Given the description of an element on the screen output the (x, y) to click on. 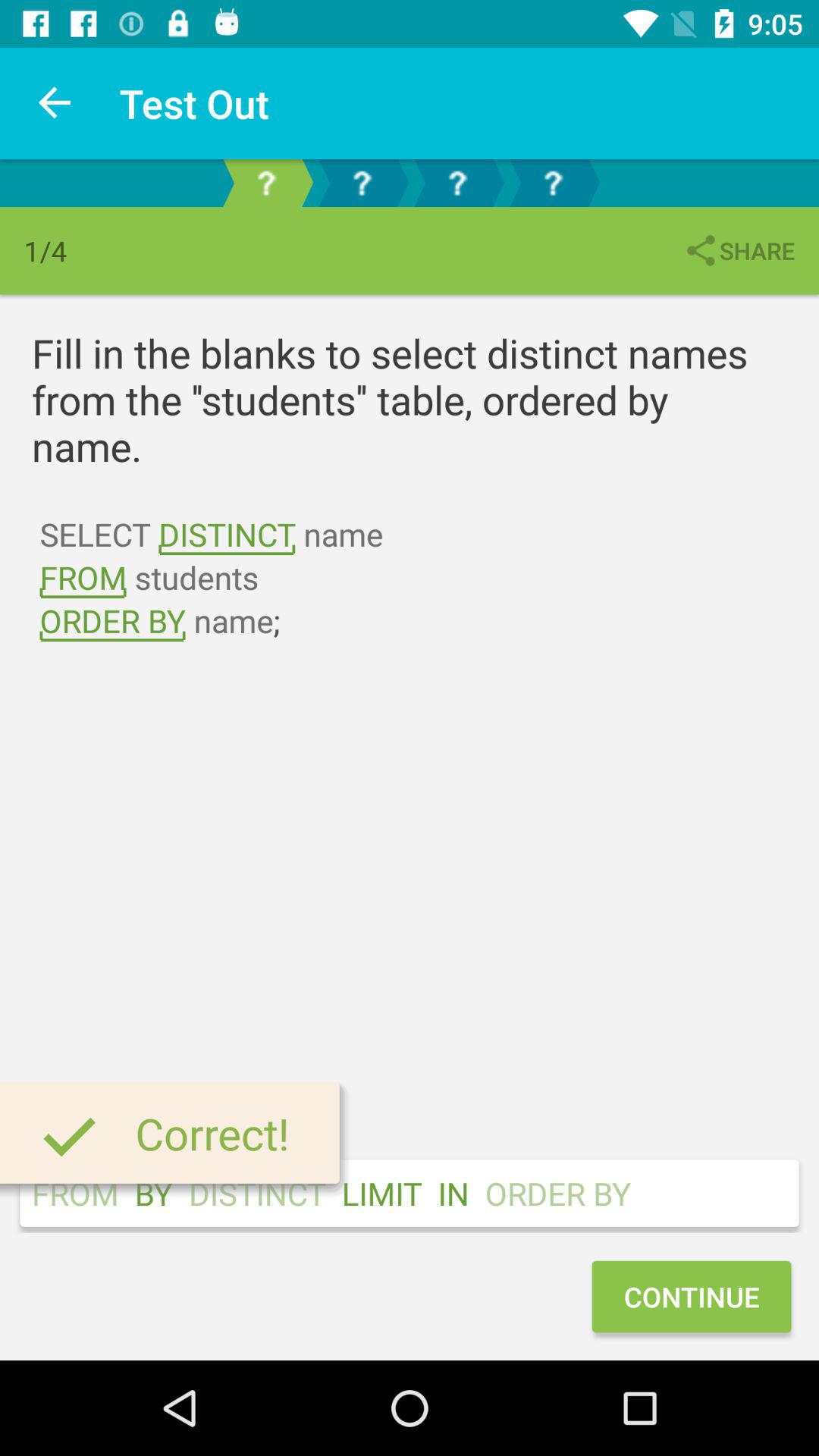
flip to share (738, 250)
